Given the description of an element on the screen output the (x, y) to click on. 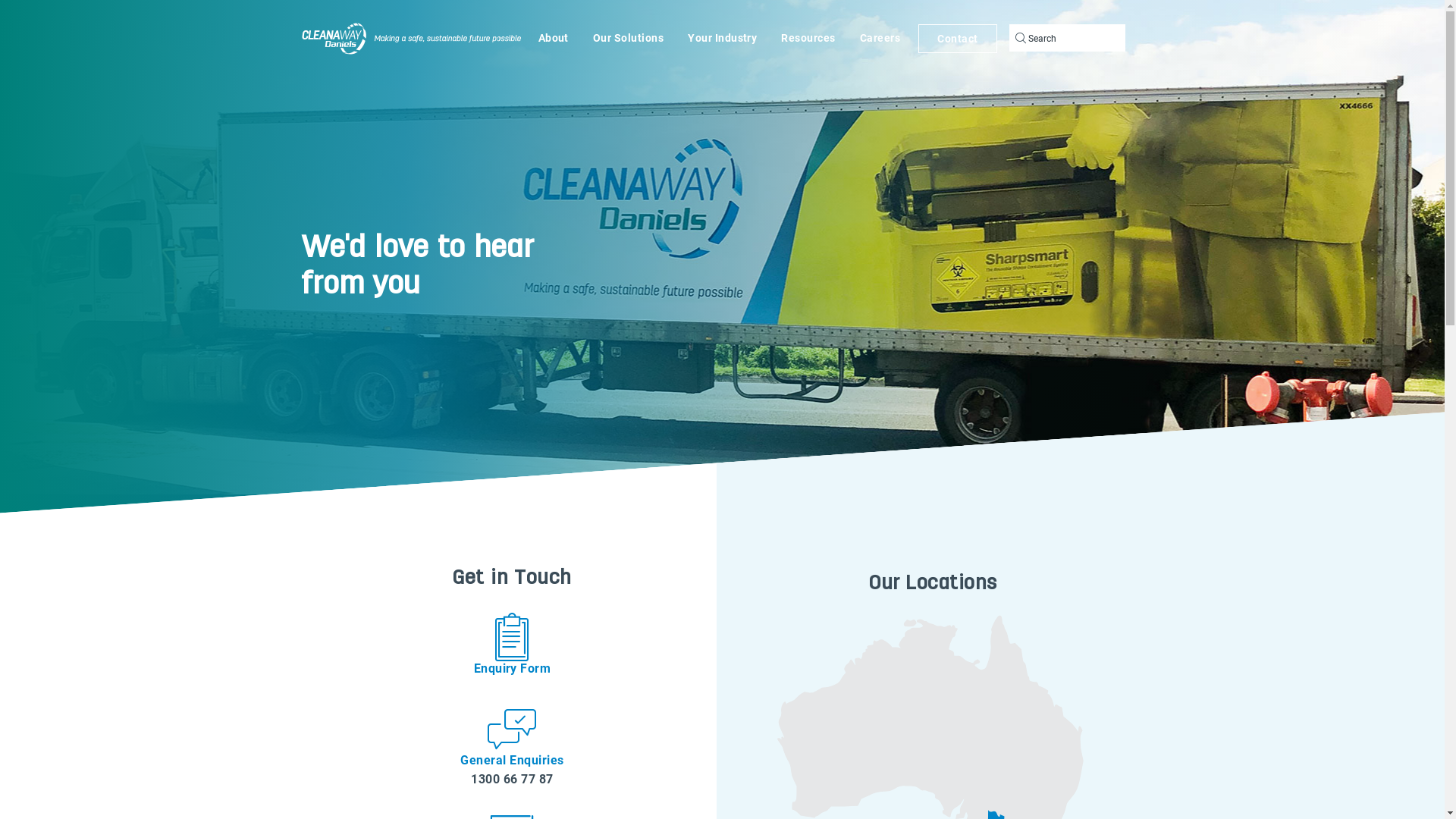
Careers Element type: text (879, 37)
Your Industry Element type: text (721, 37)
About Element type: text (553, 37)
Contact Element type: text (957, 38)
Resources Element type: text (807, 37)
Our Solutions Element type: text (627, 37)
